Given the description of an element on the screen output the (x, y) to click on. 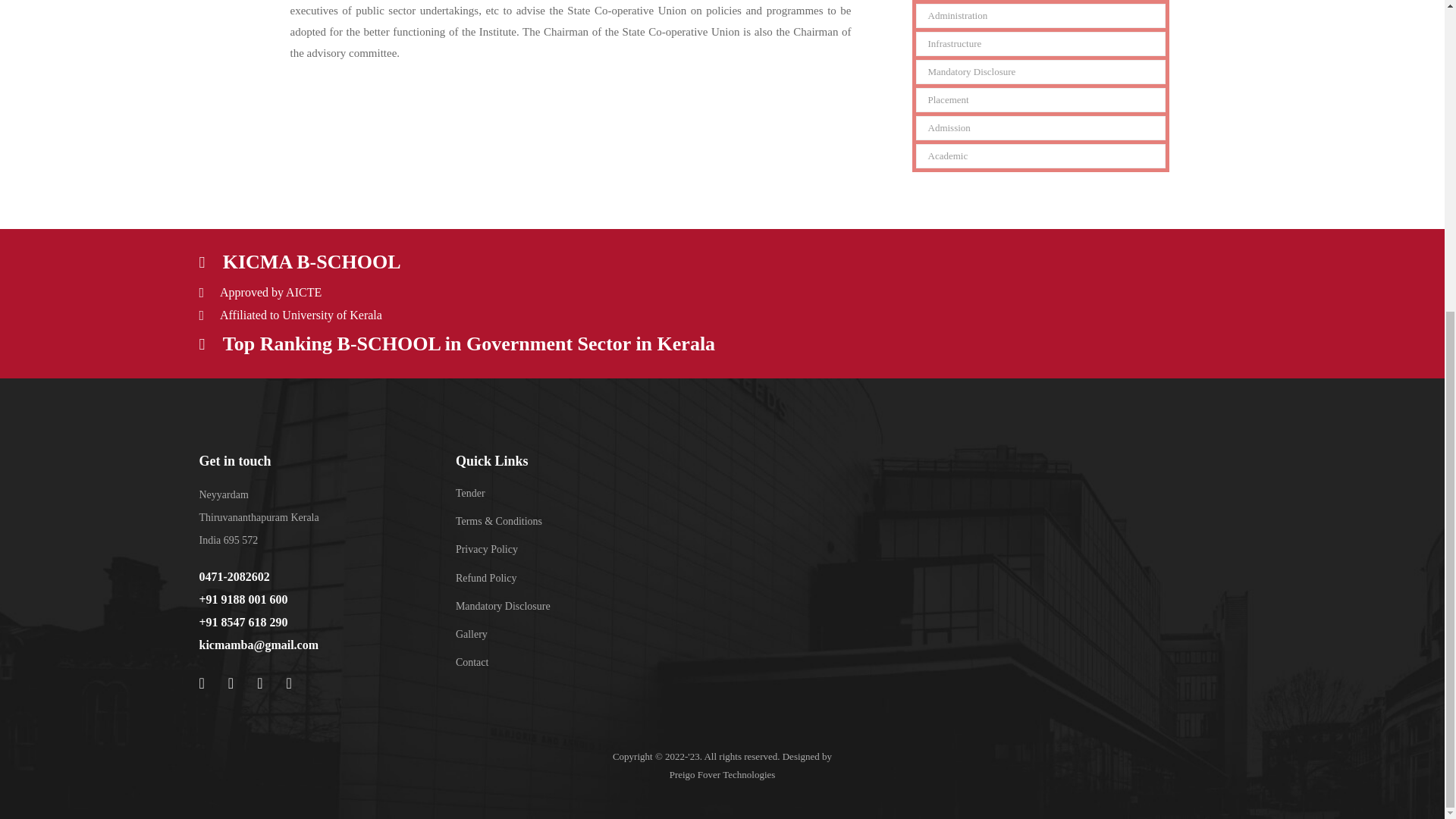
Kicma (975, 563)
